Given the description of an element on the screen output the (x, y) to click on. 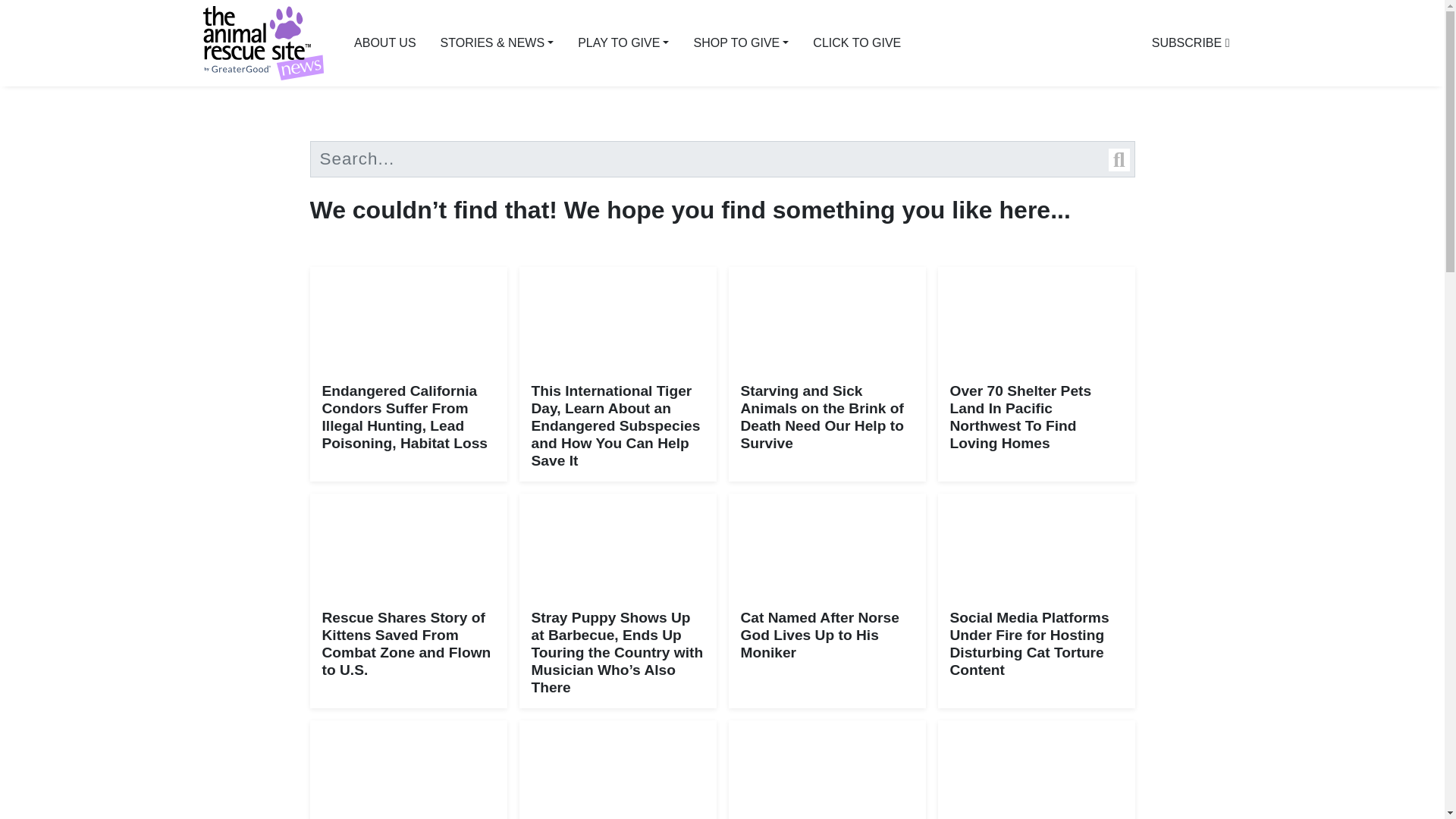
SUBSCRIBE (1190, 42)
PLAY TO GIVE (623, 42)
SHOP TO GIVE (740, 42)
ABOUT US (385, 42)
CLICK TO GIVE (856, 42)
